Given the description of an element on the screen output the (x, y) to click on. 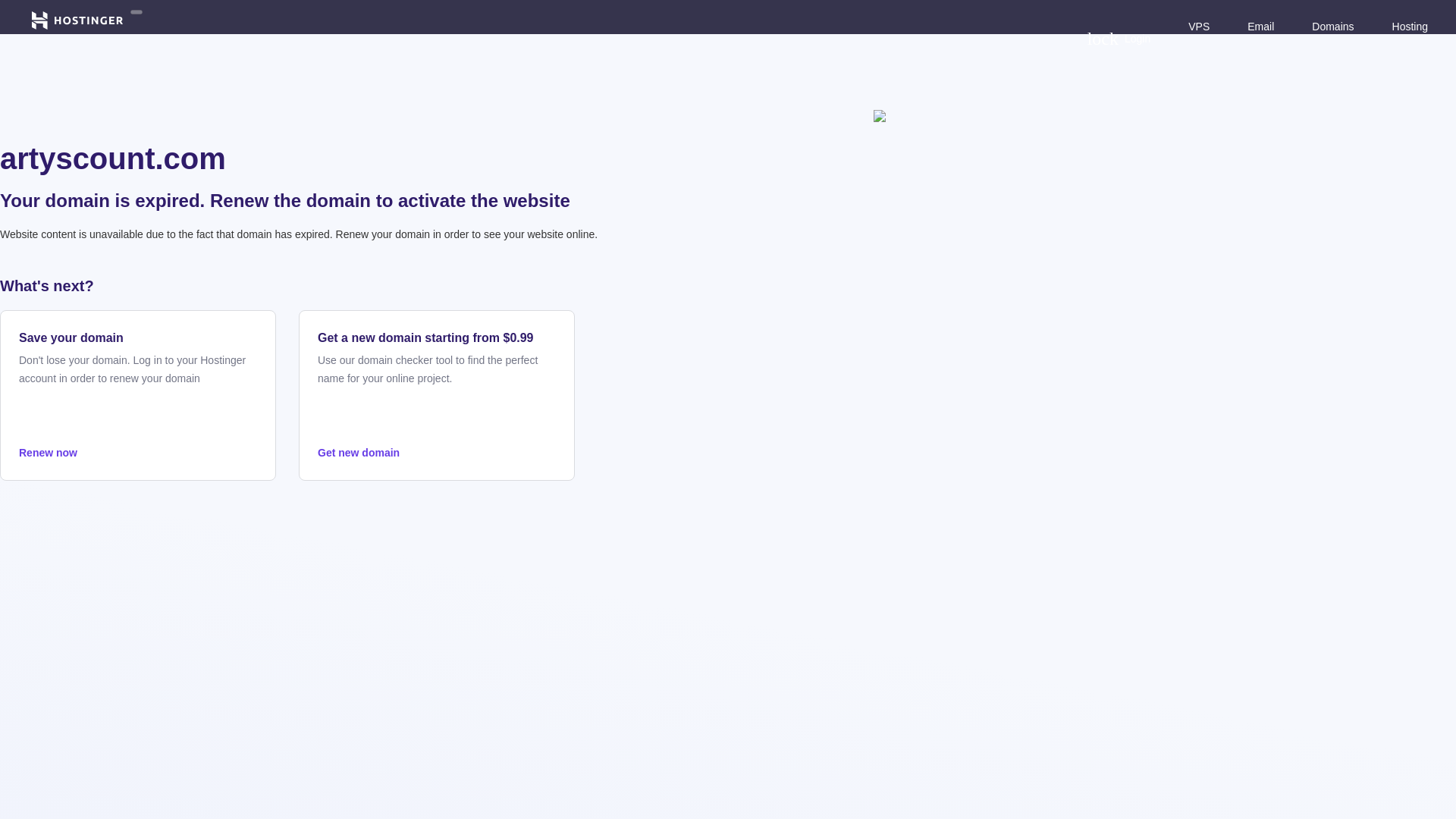
Renew now (137, 452)
Domains (1331, 25)
Hosting (1410, 25)
Get new domain (436, 452)
